Given the description of an element on the screen output the (x, y) to click on. 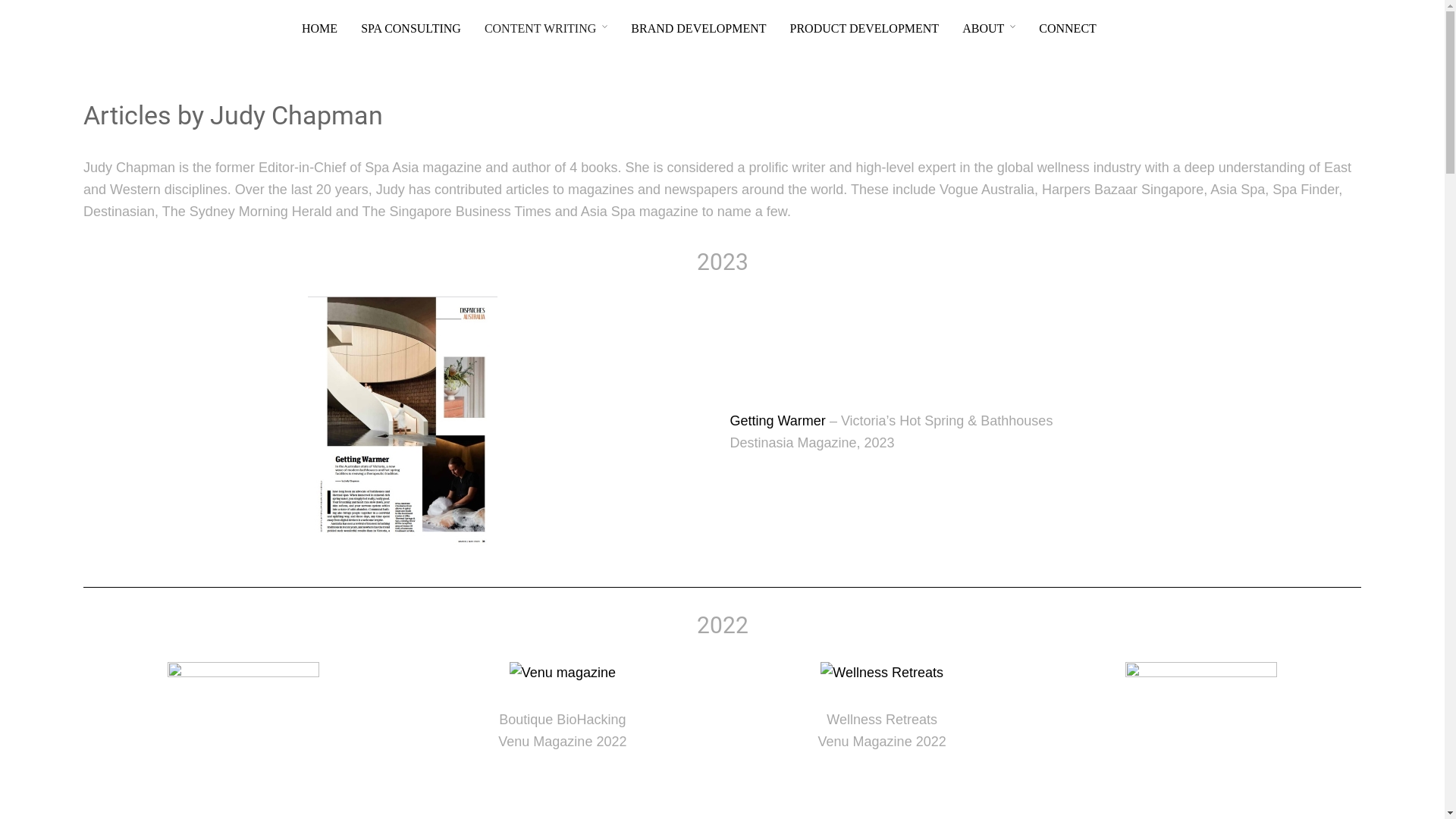
Getting Warmer Element type: text (777, 420)
SPA CONSULTING Element type: text (410, 28)
ABOUT Element type: text (988, 28)
CONTENT WRITING Element type: text (545, 28)
CONNECT Element type: text (1067, 28)
HOME Element type: text (319, 28)
PRODUCT DEVELOPMENT Element type: text (864, 28)
BRAND DEVELOPMENT Element type: text (697, 28)
